Given the description of an element on the screen output the (x, y) to click on. 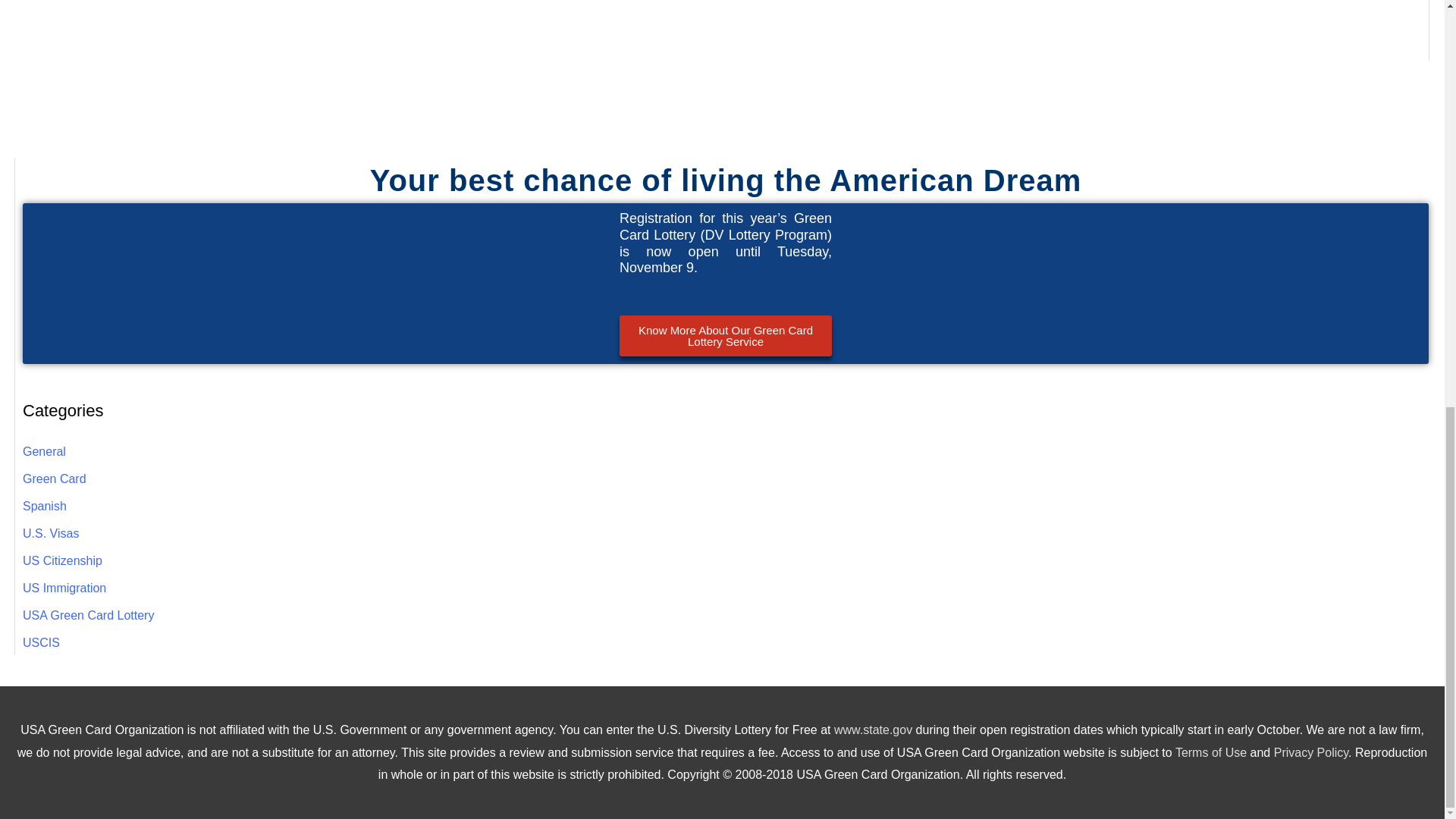
General (44, 451)
Spanish (44, 505)
U.S. Visas (50, 533)
US Immigration (64, 587)
Privacy Policy (1311, 752)
US Citizenship (62, 560)
USA Green Card Lottery (88, 615)
www.state.gov (873, 729)
Know More About Our Green Card Lottery Service (725, 335)
USCIS (41, 642)
Green Card (54, 478)
Terms of Use (1210, 752)
